Given the description of an element on the screen output the (x, y) to click on. 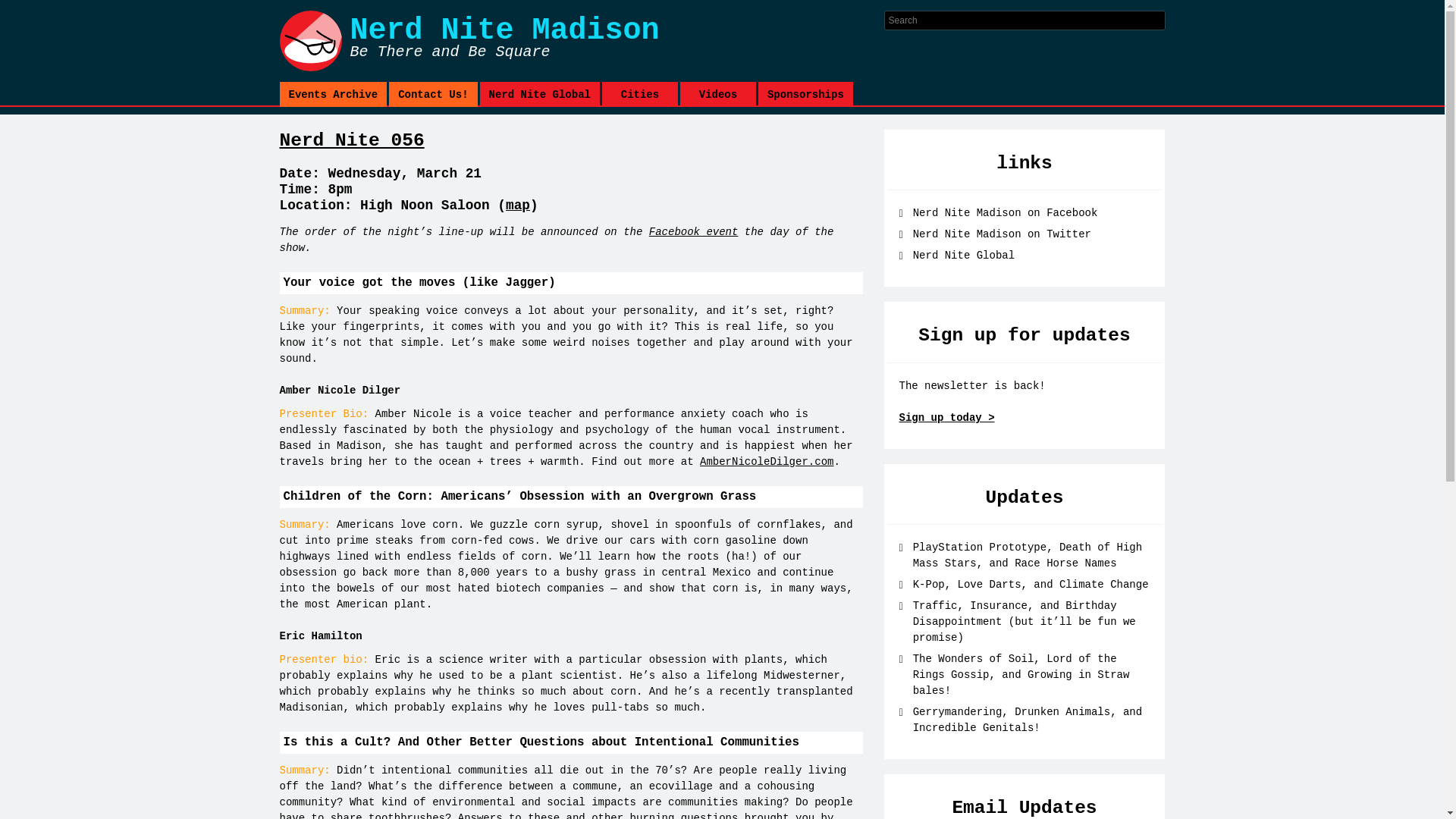
home (580, 40)
map (517, 205)
Sign up for the newsletter through Mailchimp (580, 40)
Nerd Nite Madison on Twitter (946, 417)
Cities (1001, 234)
Nerd Nite 056 (640, 94)
Videos (351, 140)
Search (717, 94)
Contact Us! (361, 13)
Sponsorships (432, 94)
K-Pop, Love Darts, and Climate Change (805, 94)
Events Archive (1030, 584)
